Given the description of an element on the screen output the (x, y) to click on. 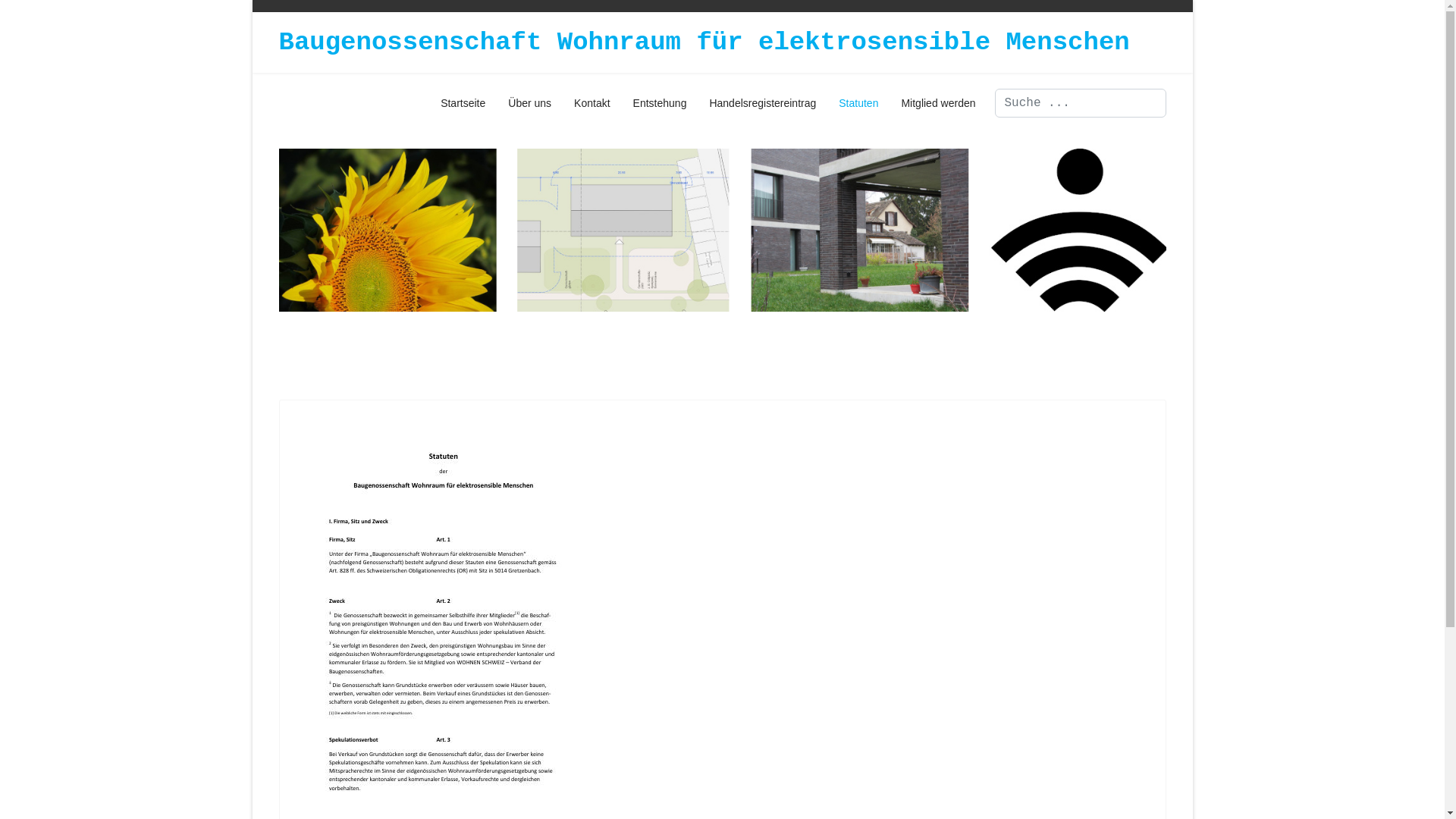
Mitglied werden Element type: text (932, 102)
Handelsregistereintrag Element type: text (762, 102)
Kontakt Element type: text (591, 102)
Startseite Element type: text (462, 102)
Statuten Element type: text (858, 102)
Entstehung Element type: text (659, 102)
